Given the description of an element on the screen output the (x, y) to click on. 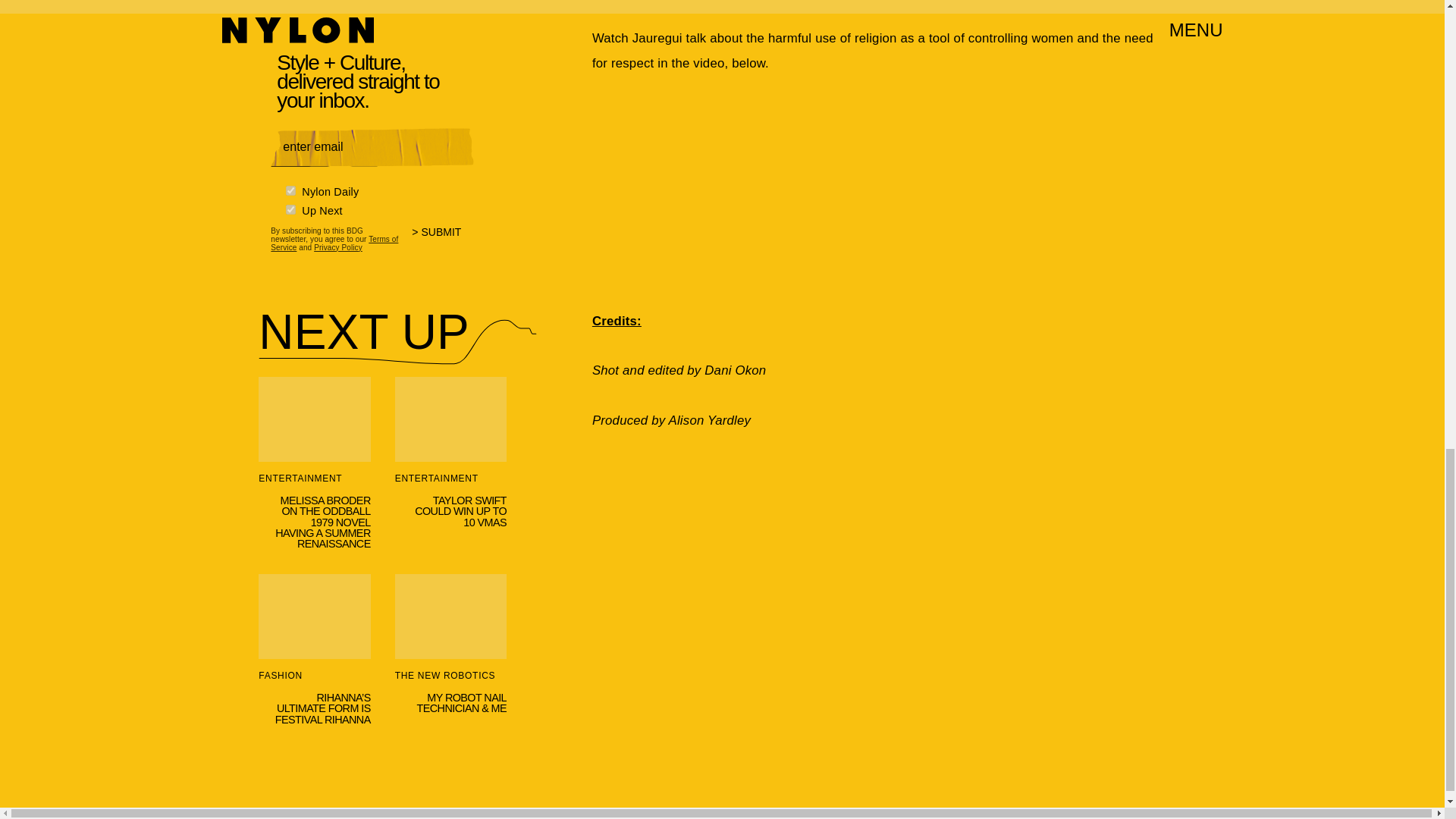
Terms of Service (333, 242)
SUBMIT (443, 241)
Privacy Policy (338, 247)
